Given the description of an element on the screen output the (x, y) to click on. 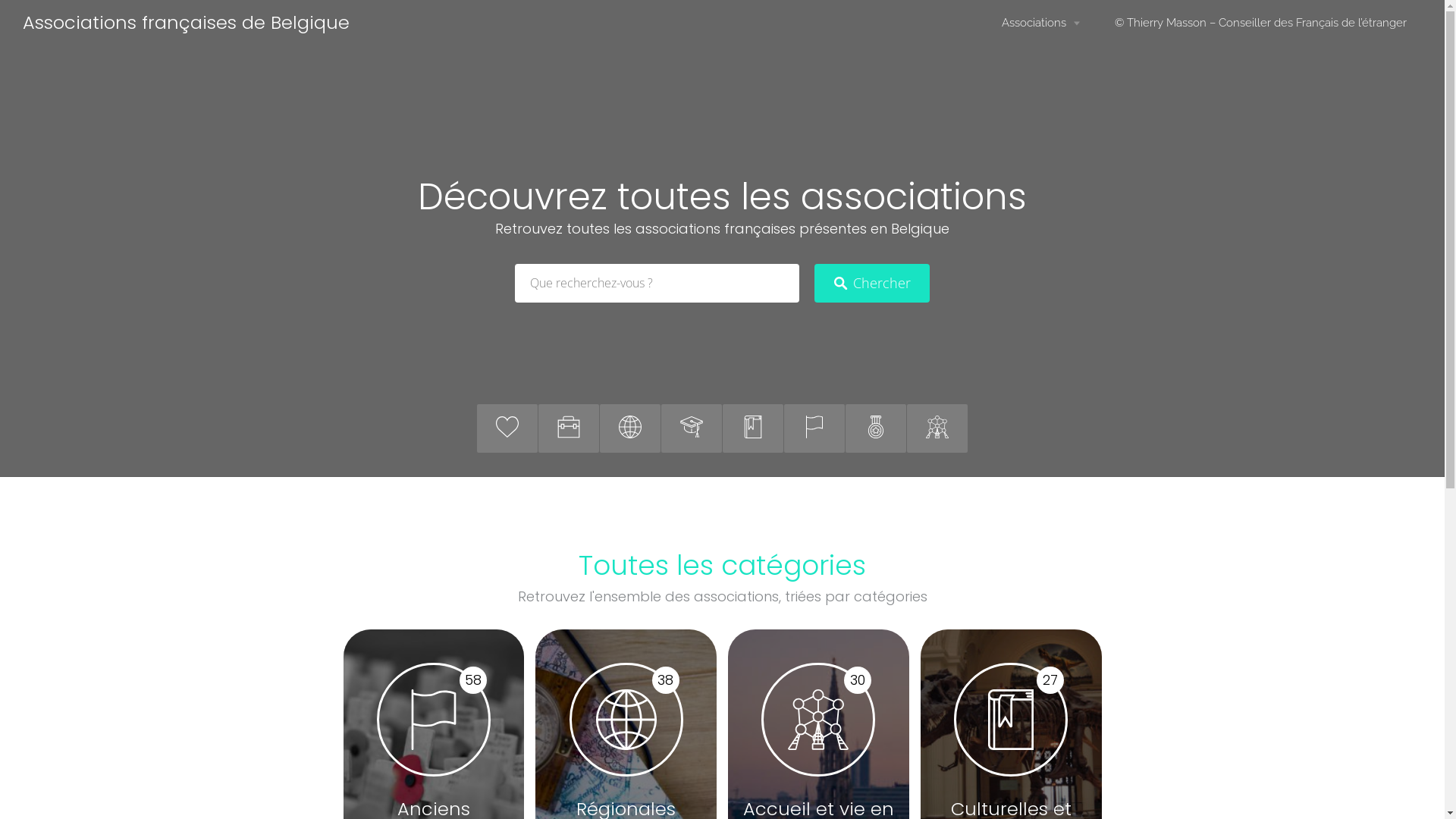
Associations Element type: text (1039, 22)
Chercher Element type: text (871, 282)
